Given the description of an element on the screen output the (x, y) to click on. 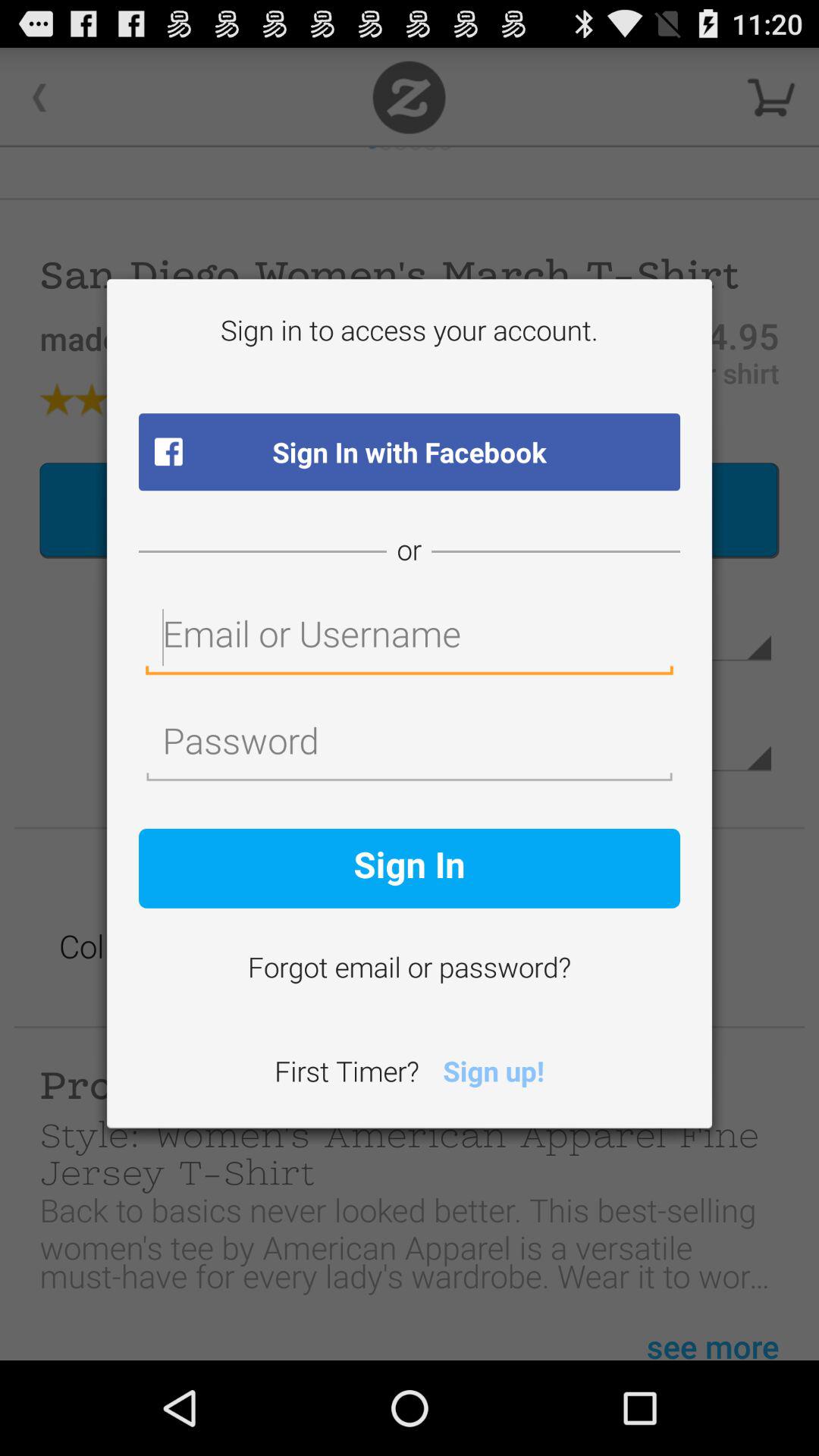
press forgot email or icon (409, 970)
